Given the description of an element on the screen output the (x, y) to click on. 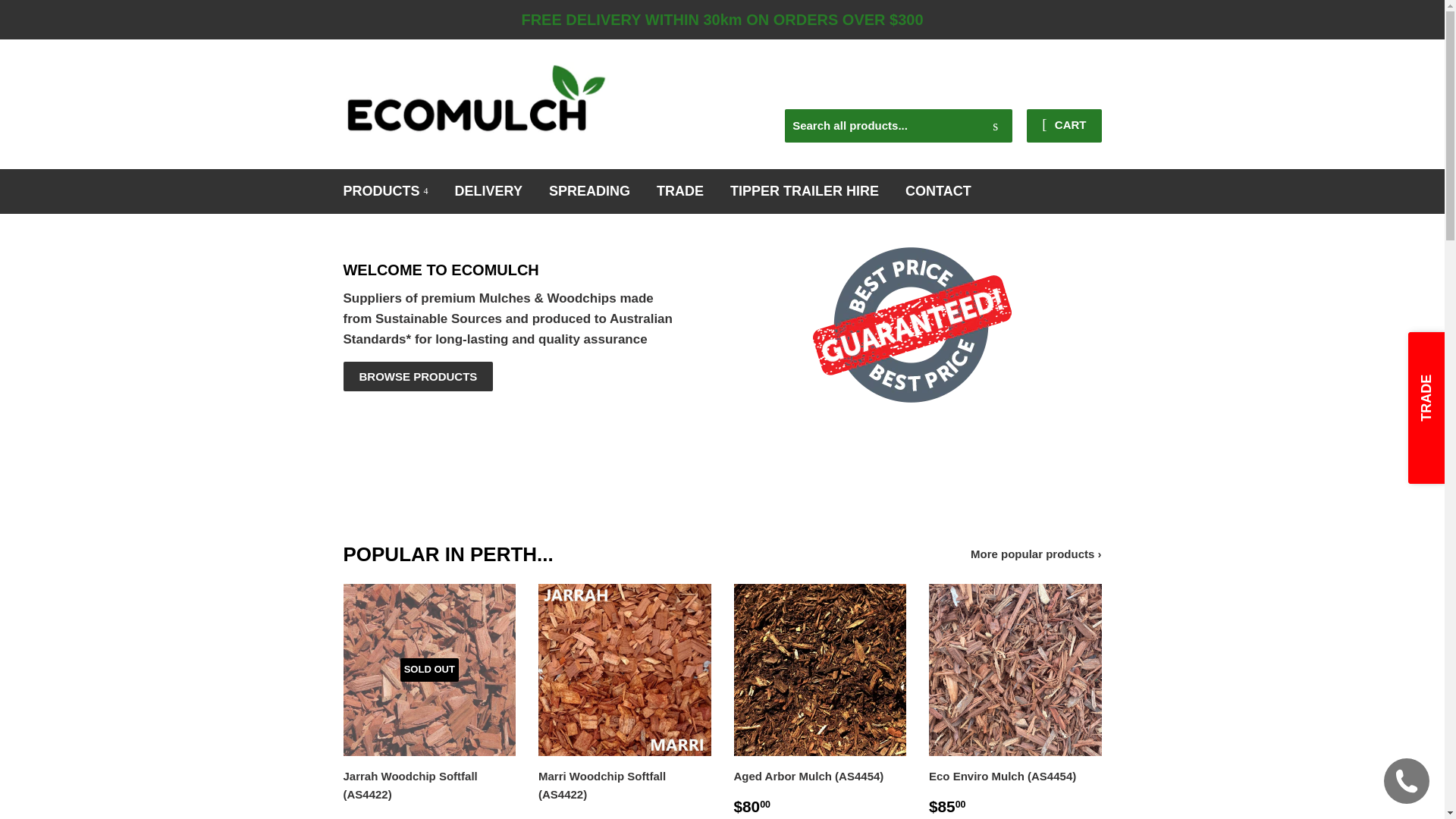
CART Element type: text (1063, 125)
BROWSE PRODUCTS Element type: text (417, 376)
DELIVERY Element type: text (488, 191)
Search Element type: text (995, 126)
Sign in Element type: text (977, 88)
SPREADING Element type: text (589, 191)
PRODUCTS Element type: text (385, 191)
CONTACT Element type: text (938, 191)
TIPPER TRAILER HIRE Element type: text (804, 191)
TRADE Element type: text (680, 191)
Aged Arbor Mulch (AS4454)
RRP
$8000
$80.00 Element type: text (820, 700)
Eco Enviro Mulch (AS4454)
RRP
$8500
$85.00 Element type: text (1014, 700)
Call 1300 850 660 Element type: text (1025, 74)
FREE DELIVERY WITHIN 30km ON ORDERS OVER $300 Element type: text (722, 19)
Create an Account Element type: text (1058, 88)
